Given the description of an element on the screen output the (x, y) to click on. 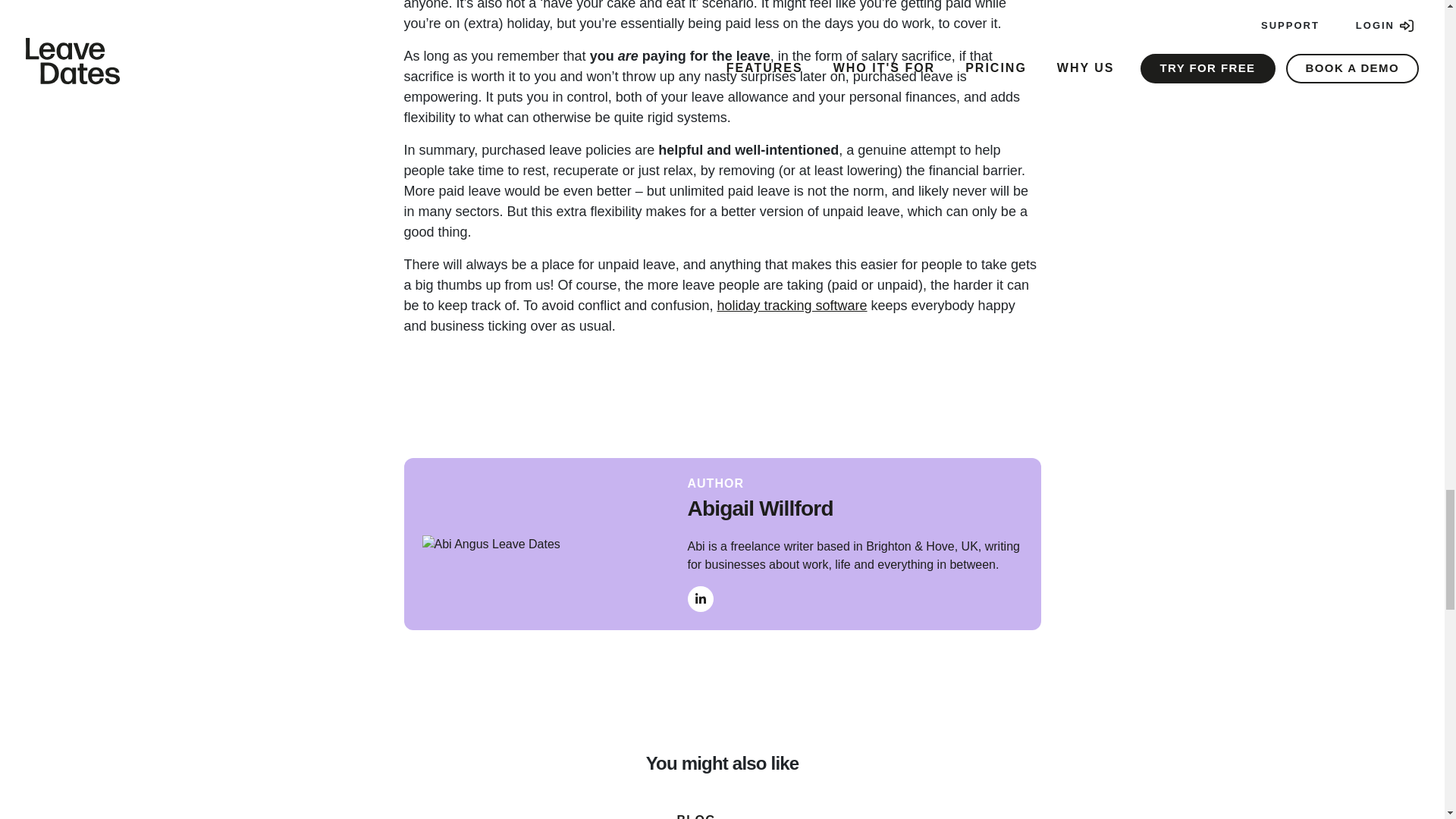
BLOG (695, 815)
Follow Abigail Willford on LinkedIn (700, 598)
holiday tracking software (791, 305)
